Given the description of an element on the screen output the (x, y) to click on. 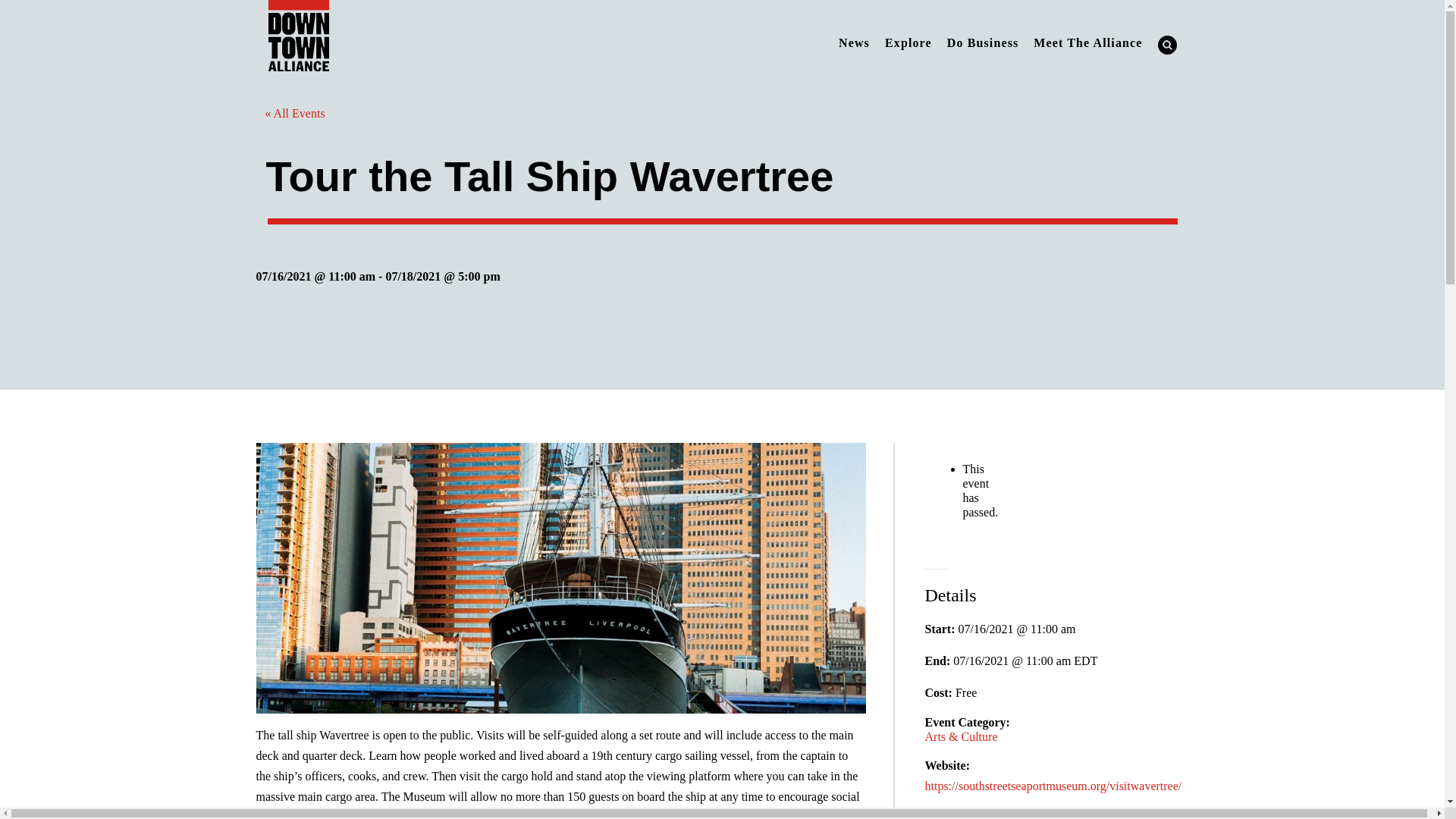
Do Business (983, 42)
Meet The Alliance (1087, 42)
News (853, 42)
Explore (908, 42)
